Given the description of an element on the screen output the (x, y) to click on. 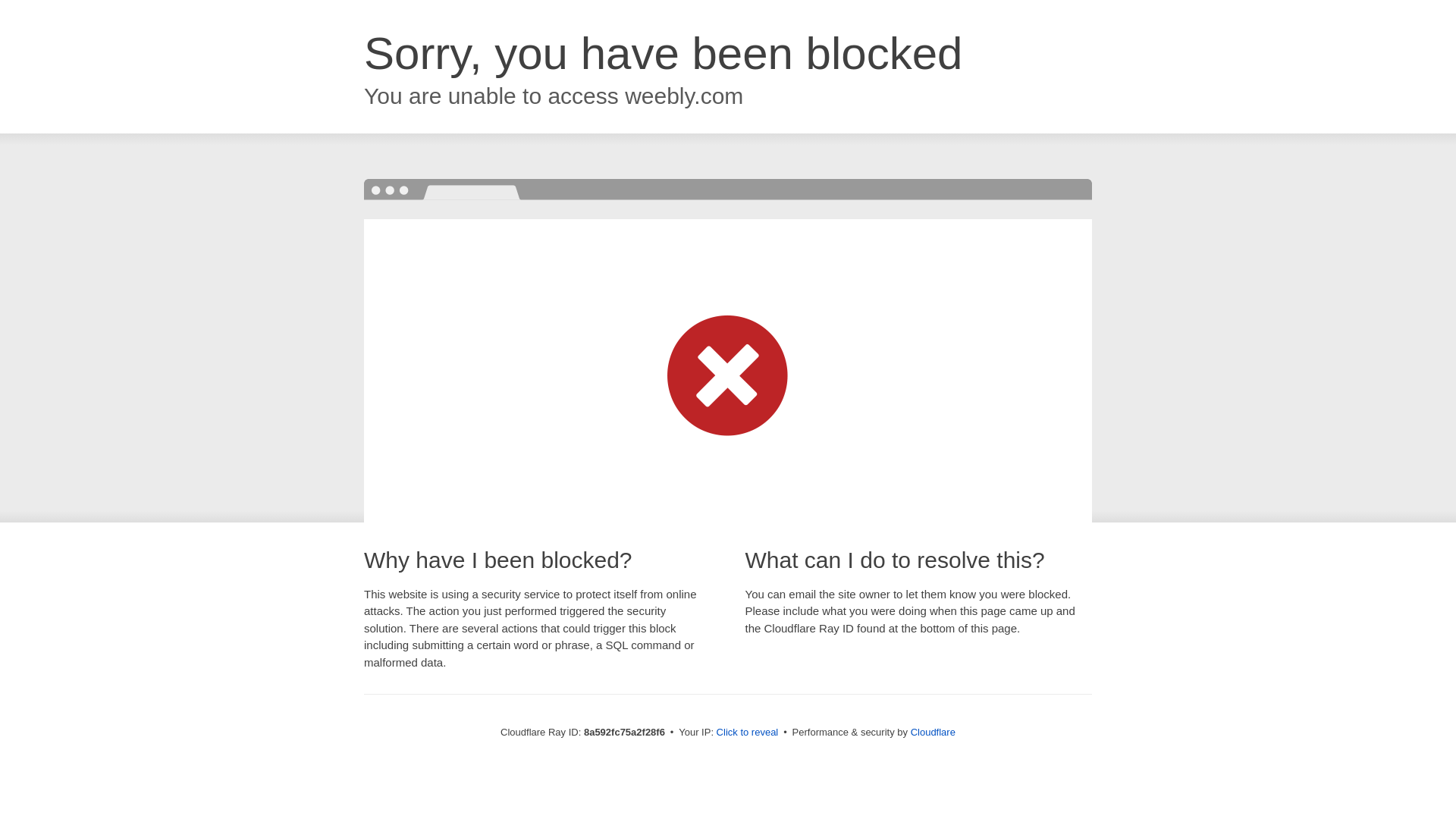
Cloudflare (933, 731)
Click to reveal (747, 732)
